Given the description of an element on the screen output the (x, y) to click on. 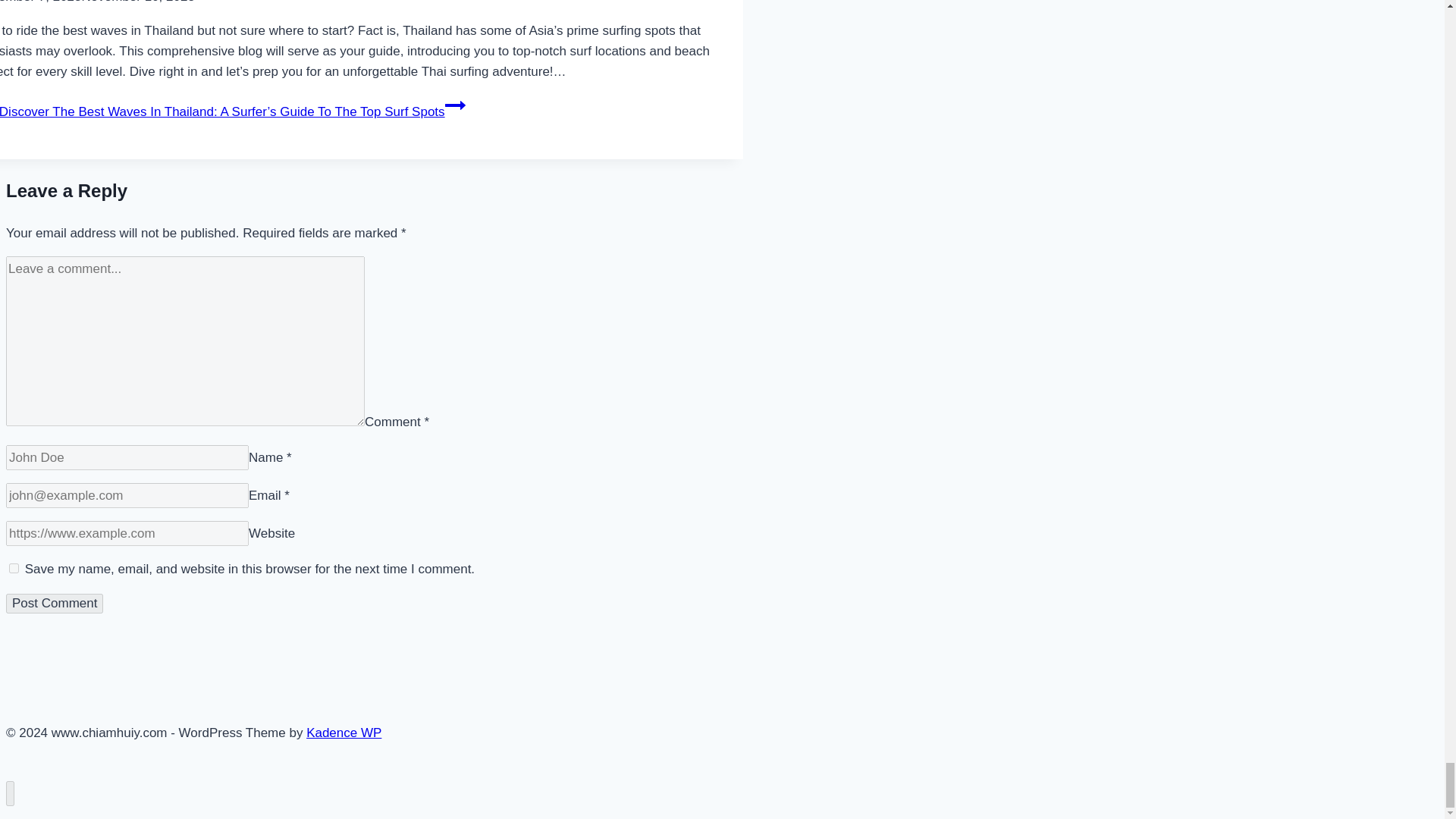
Continue (455, 105)
yes (13, 569)
Post Comment (54, 603)
